Given the description of an element on the screen output the (x, y) to click on. 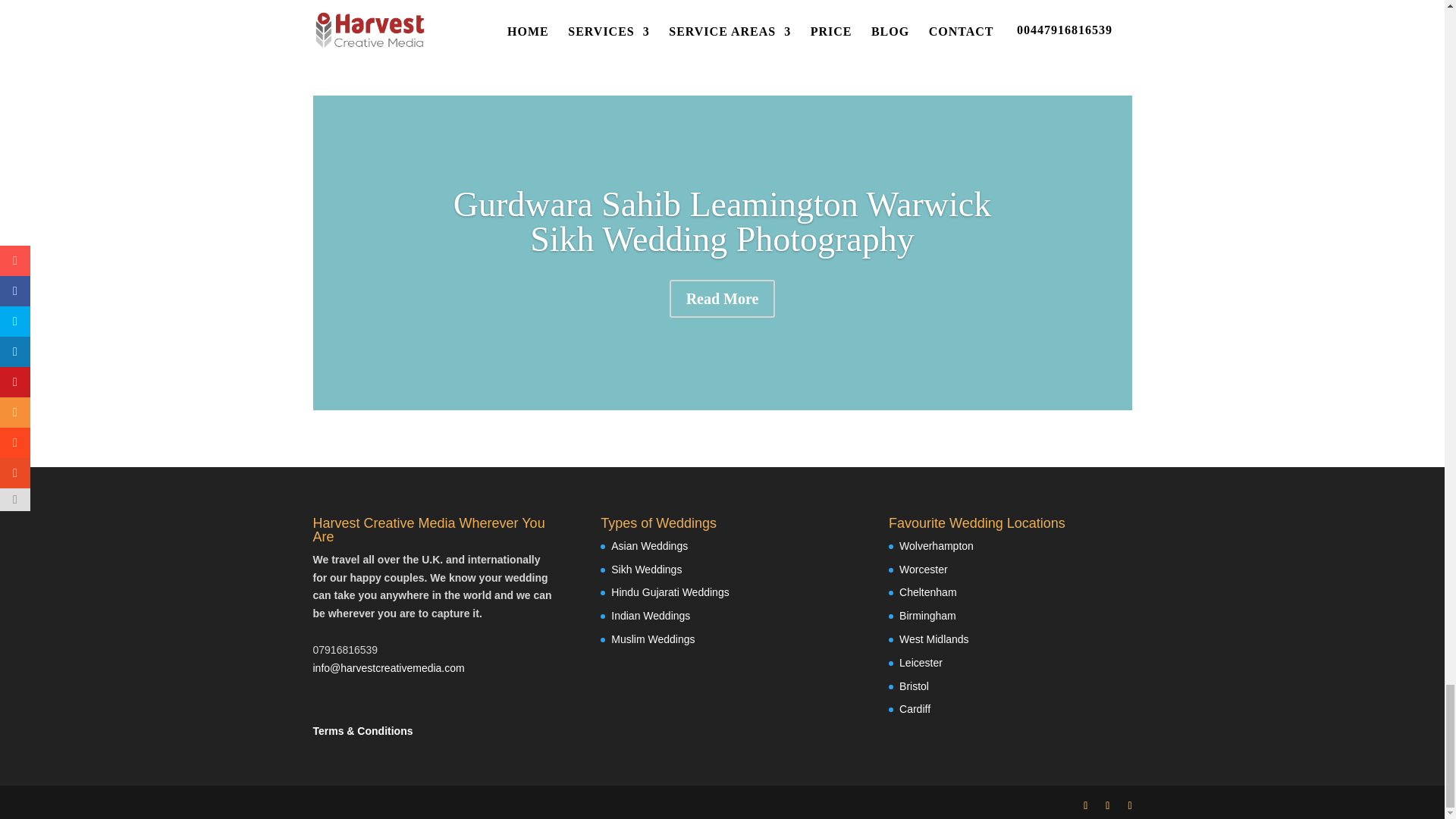
Read More (722, 298)
Gurdwara Sahib Leamington Warwick Sikh Wedding Photography (721, 221)
